Given the description of an element on the screen output the (x, y) to click on. 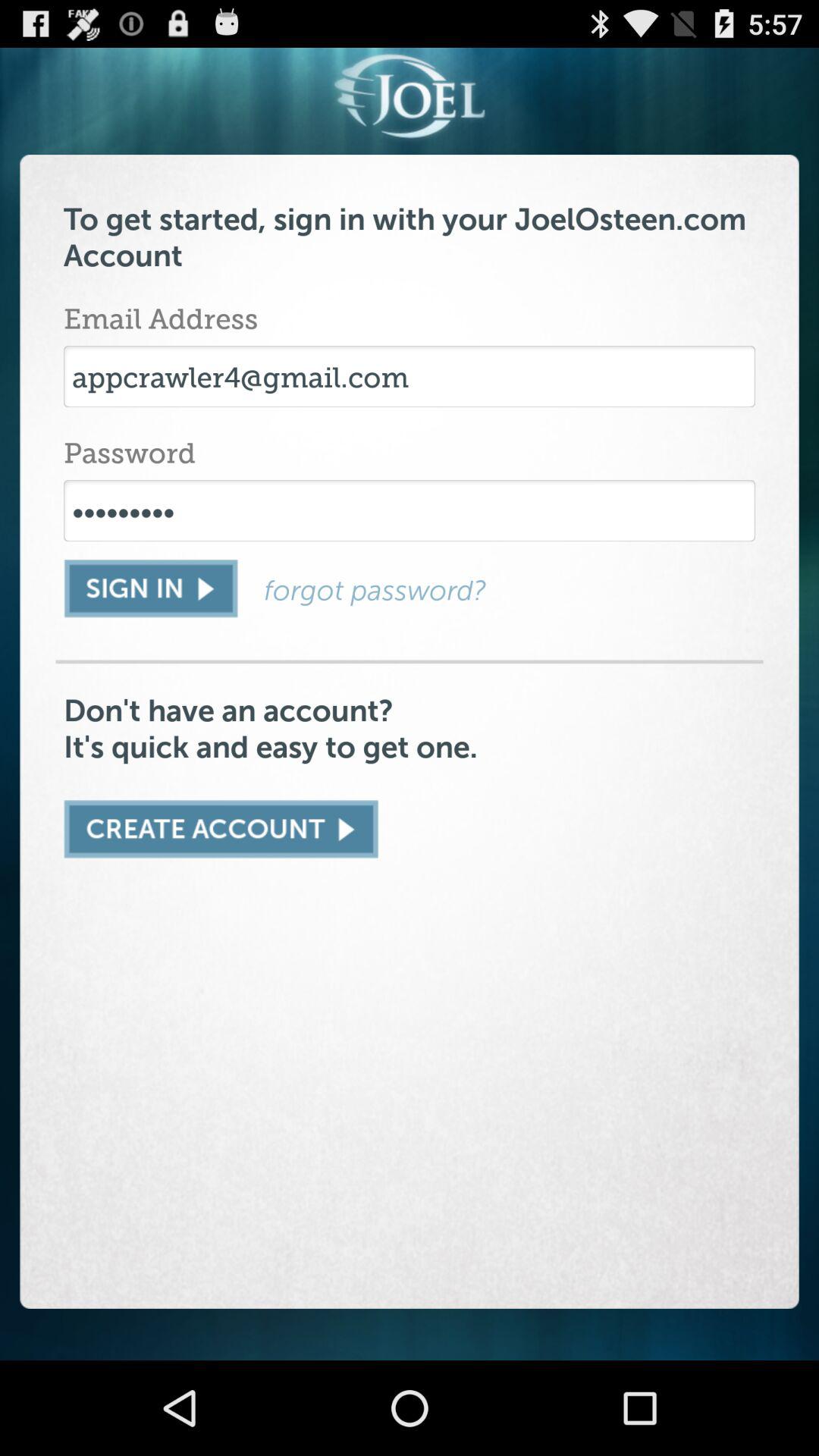
choose app to the left of the forgot password? (150, 588)
